Given the description of an element on the screen output the (x, y) to click on. 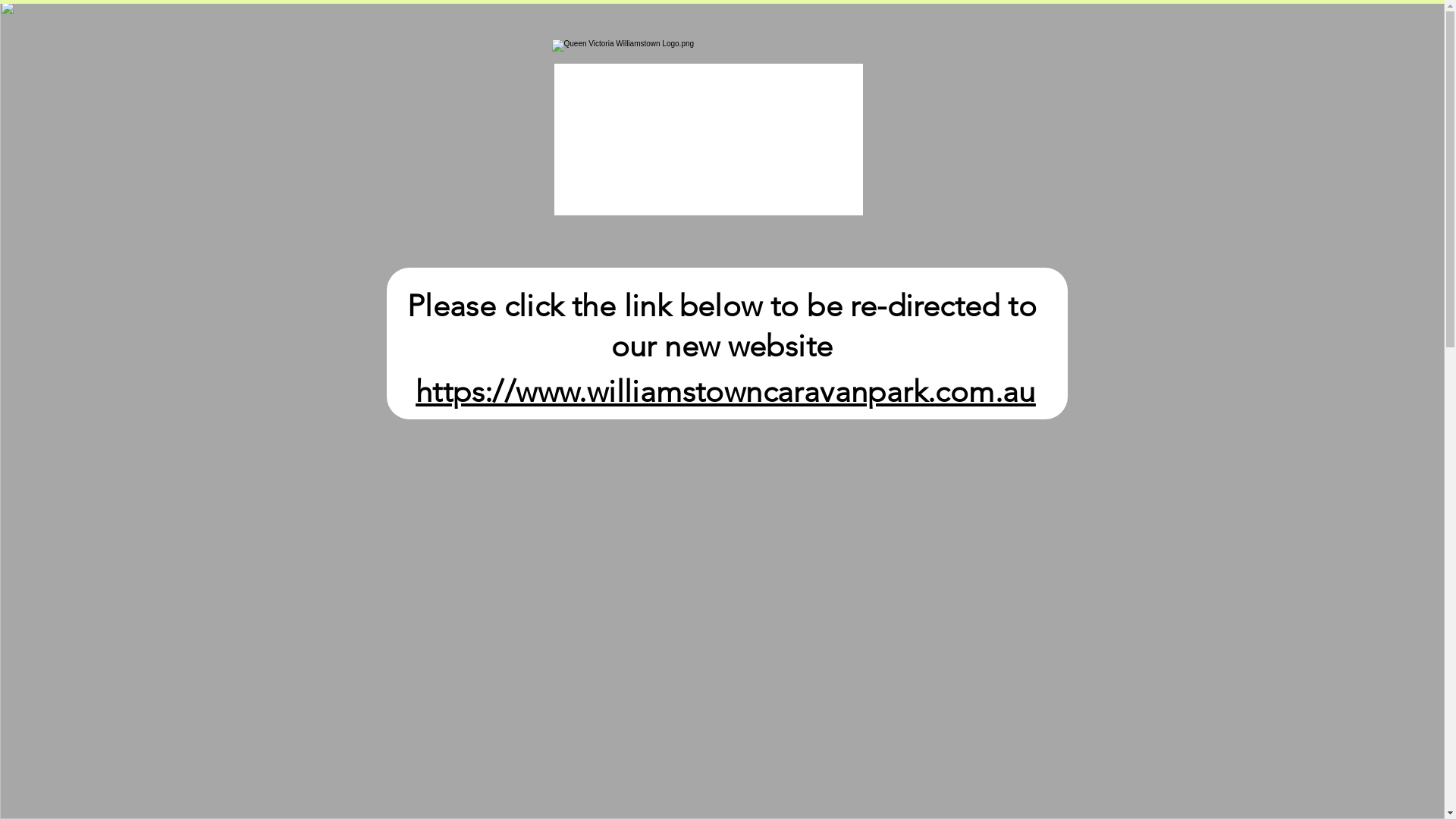
https://www.williamstowncaravanpark.com.au Element type: text (725, 389)
